Given the description of an element on the screen output the (x, y) to click on. 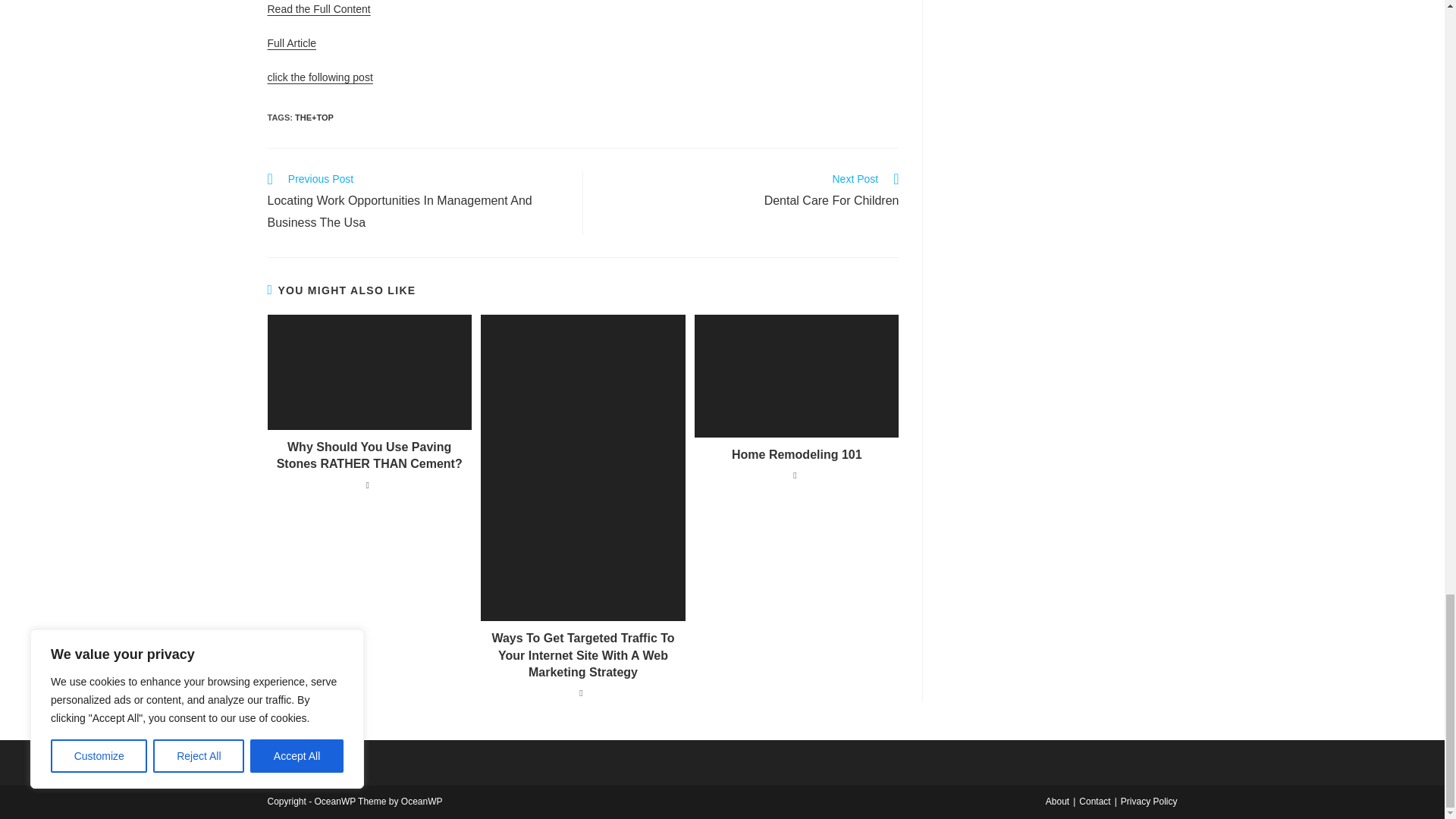
Read the Full Content (317, 9)
Full Article (290, 42)
click the following post (748, 191)
